Given the description of an element on the screen output the (x, y) to click on. 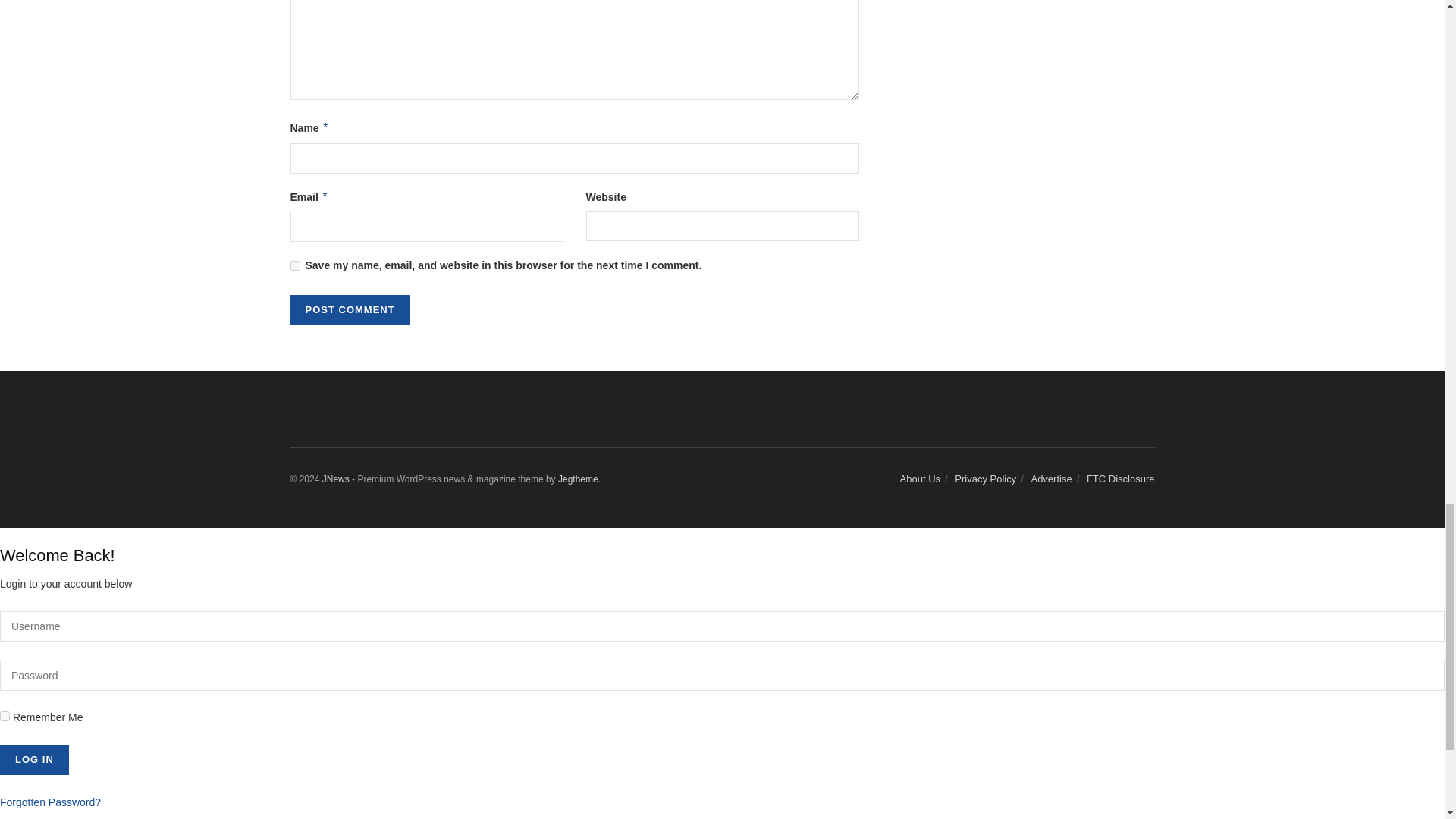
Jegtheme (577, 478)
Log In (34, 759)
Post Comment (349, 309)
yes (294, 266)
true (5, 716)
